Given the description of an element on the screen output the (x, y) to click on. 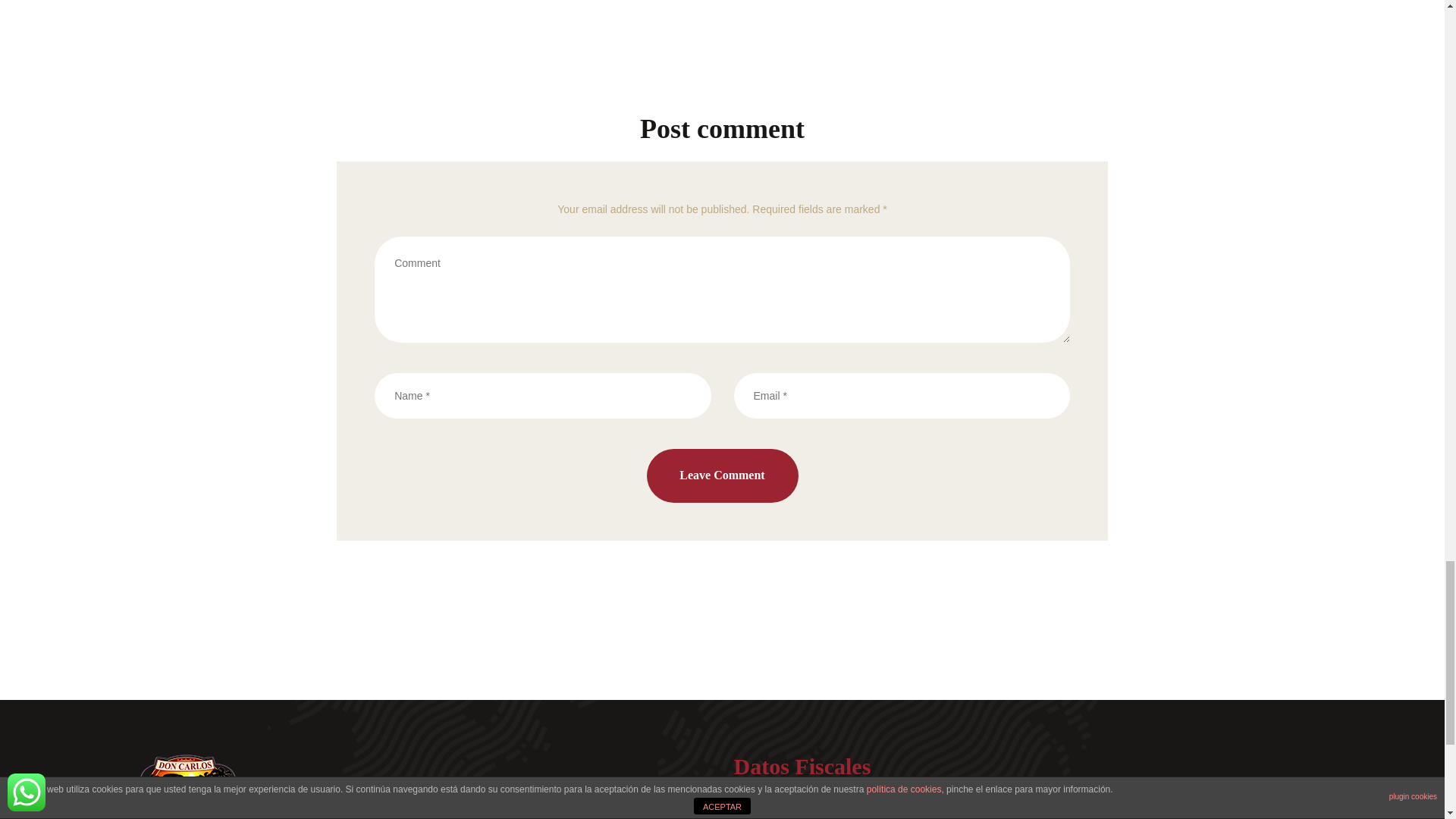
Leave Comment (721, 475)
Leave Comment (721, 475)
